Given the description of an element on the screen output the (x, y) to click on. 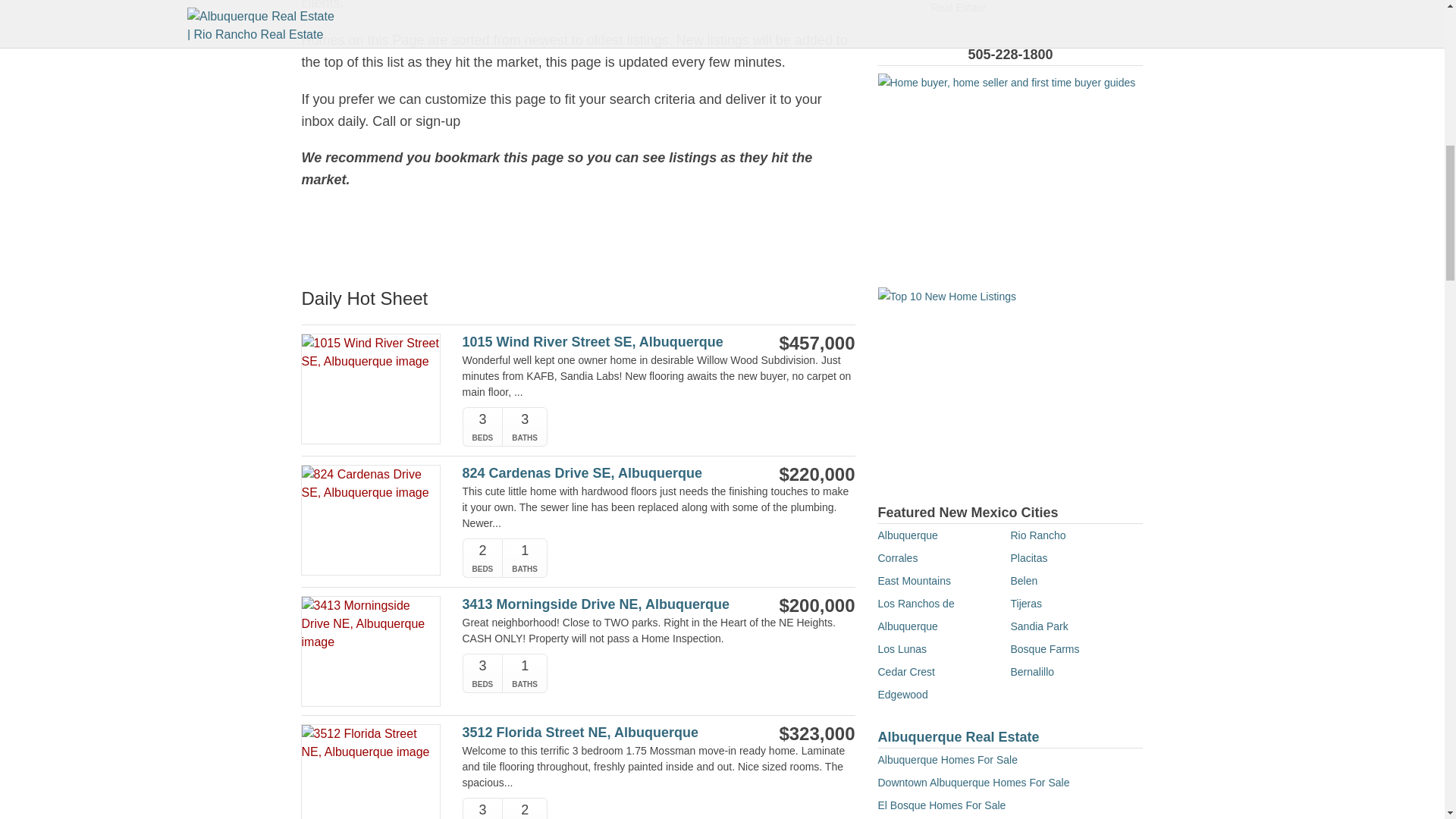
3413 Morningside Drive NE, Albuquerque (600, 604)
Top 10 new home listings (1009, 386)
3512 Florida Street NE, Albuquerque (600, 732)
1015 Wind River Street SE, Albuquerque (600, 342)
824 Cardenas Drive SE, Albuquerque (600, 473)
home buyer home seller and first time home buying guide (1009, 172)
